Given the description of an element on the screen output the (x, y) to click on. 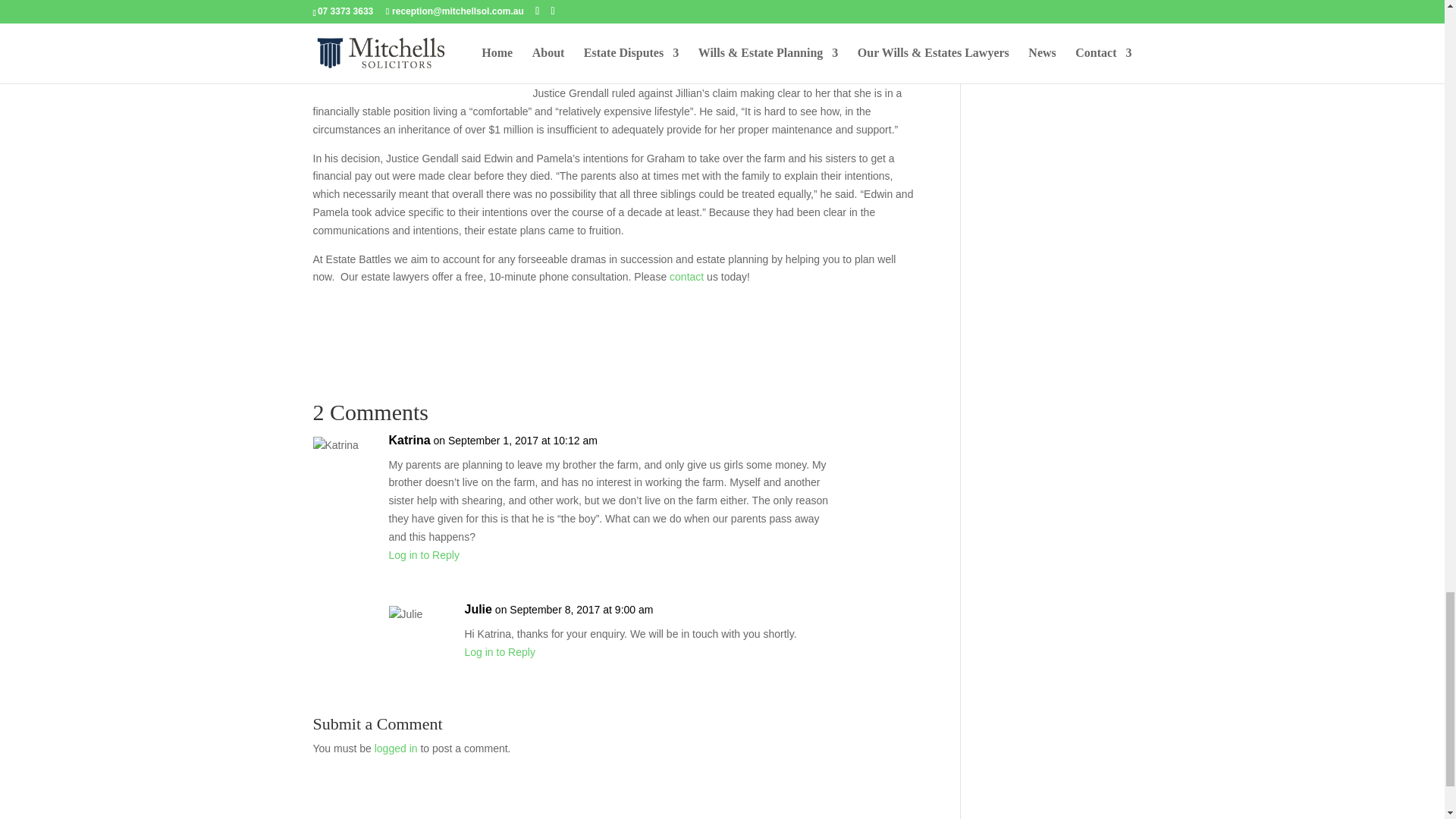
Log in to Reply (499, 652)
contact (686, 276)
Log in to Reply (423, 554)
